Given the description of an element on the screen output the (x, y) to click on. 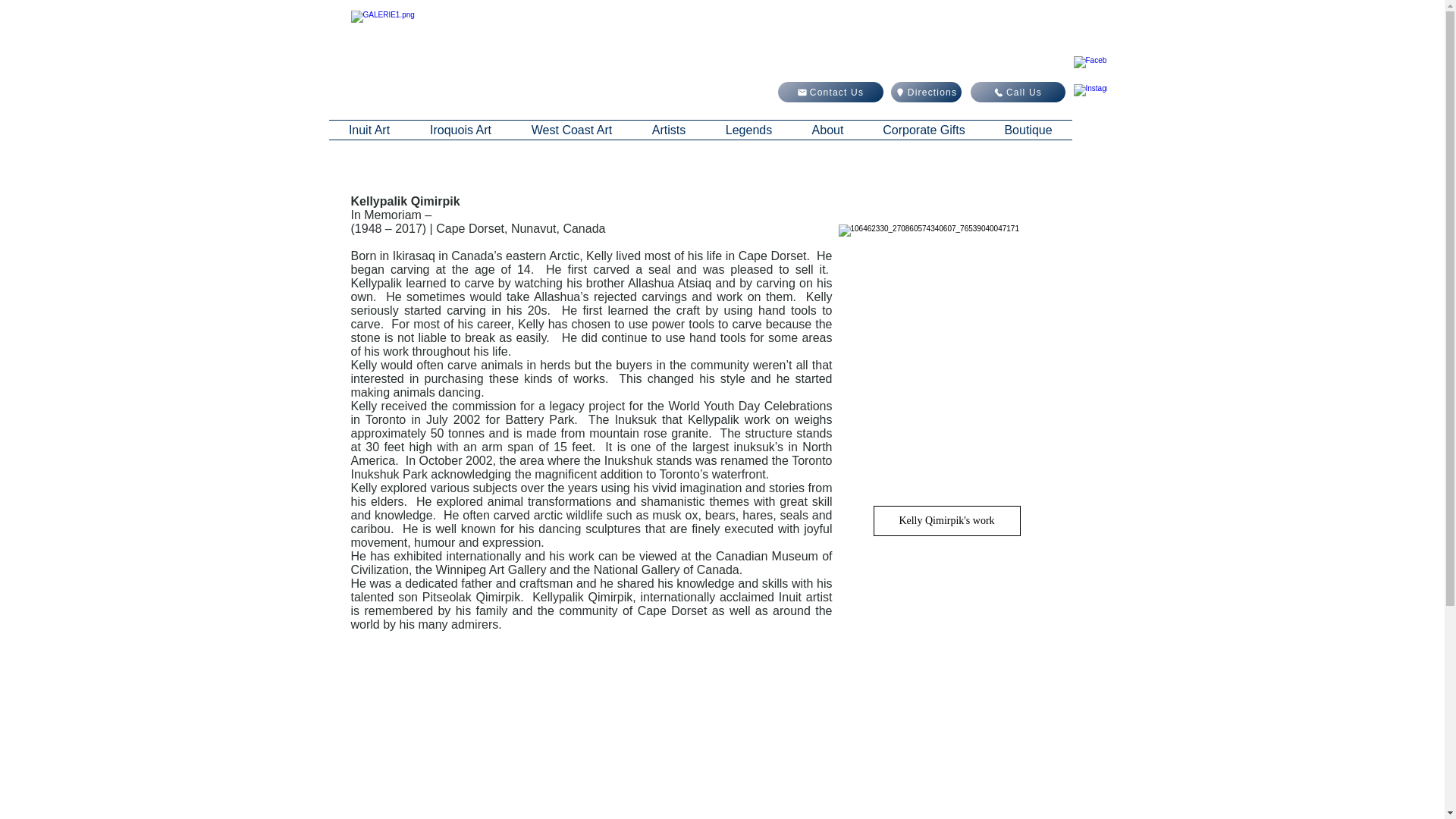
Corporate Gifts (923, 129)
About (827, 129)
Directions (924, 91)
Contact Us (830, 91)
Boutique (1027, 129)
Iroquois Art (460, 129)
Call Us (1018, 91)
Artists (668, 129)
West Coast Art (571, 129)
Kelly Qimirpik's work (946, 521)
